Given the description of an element on the screen output the (x, y) to click on. 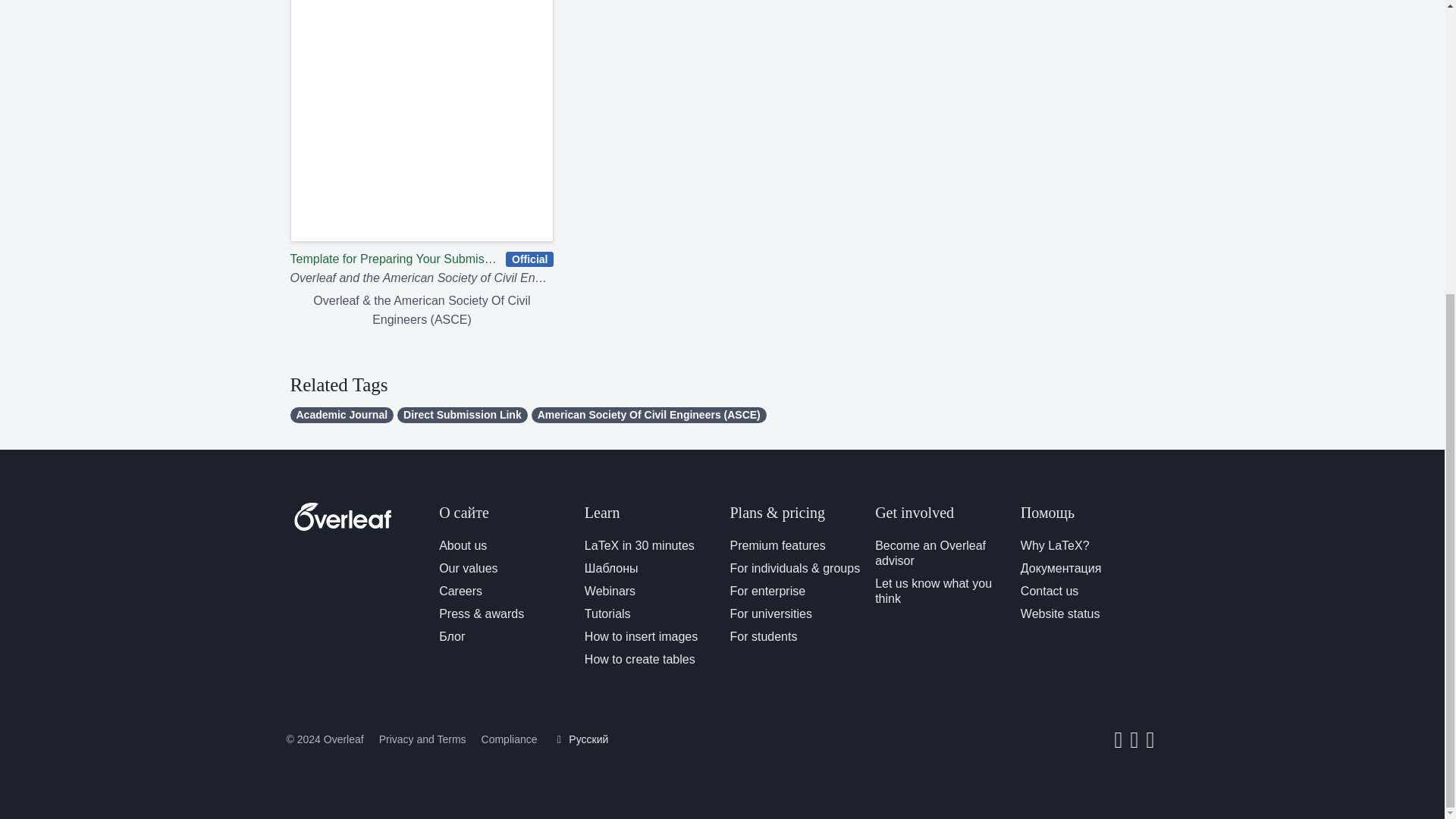
LaTeX in 30 minutes (639, 545)
How to insert images (641, 635)
Careers (460, 590)
Premium features (777, 545)
Academic Journal (341, 415)
Webinars (609, 590)
About us (462, 545)
Direct Submission Link (462, 415)
Tutorials (607, 613)
Our values (468, 567)
